Given the description of an element on the screen output the (x, y) to click on. 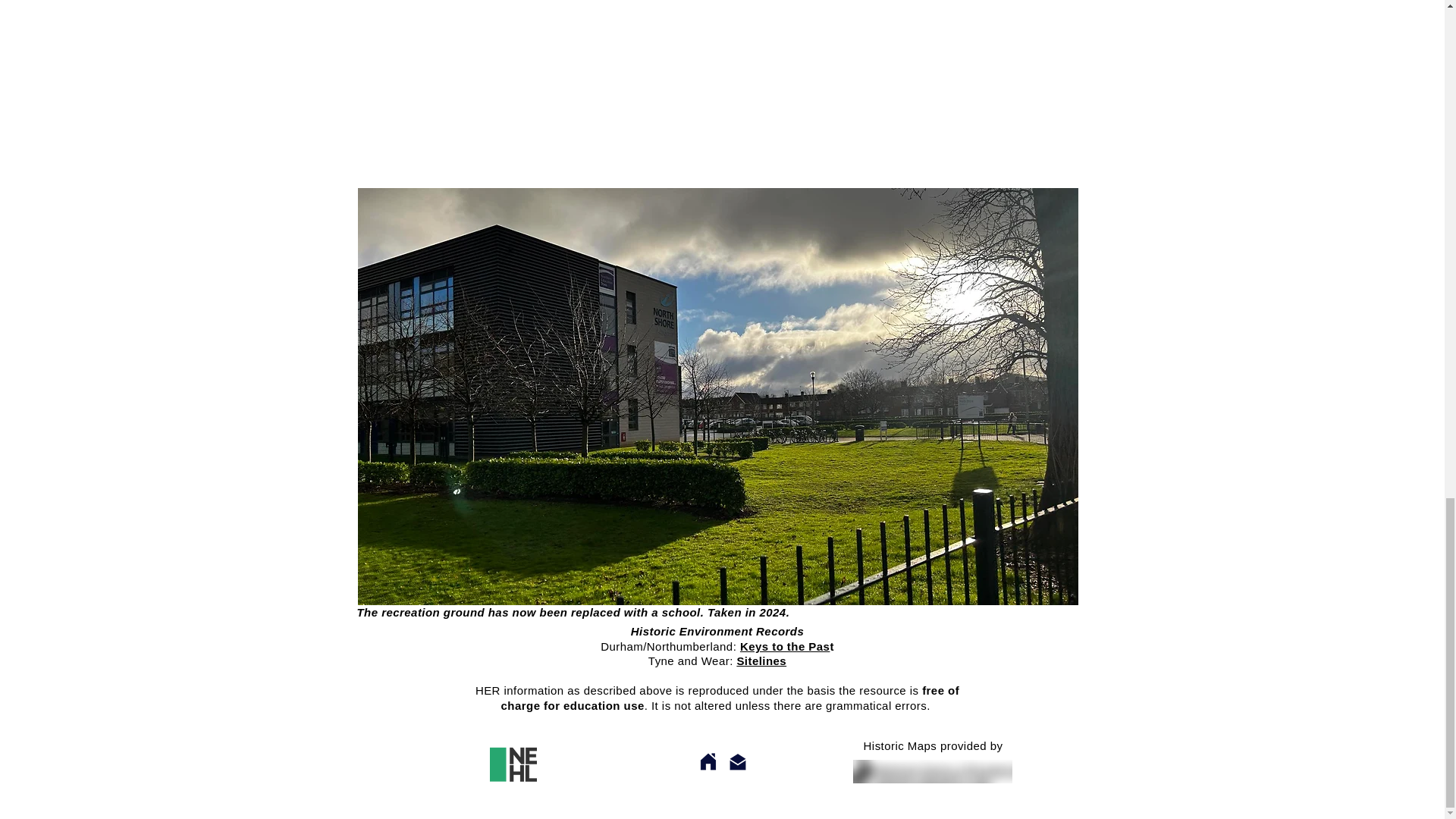
Sitelines (761, 660)
Contact us (898, 516)
Keys to the Pas (784, 645)
